Given the description of an element on the screen output the (x, y) to click on. 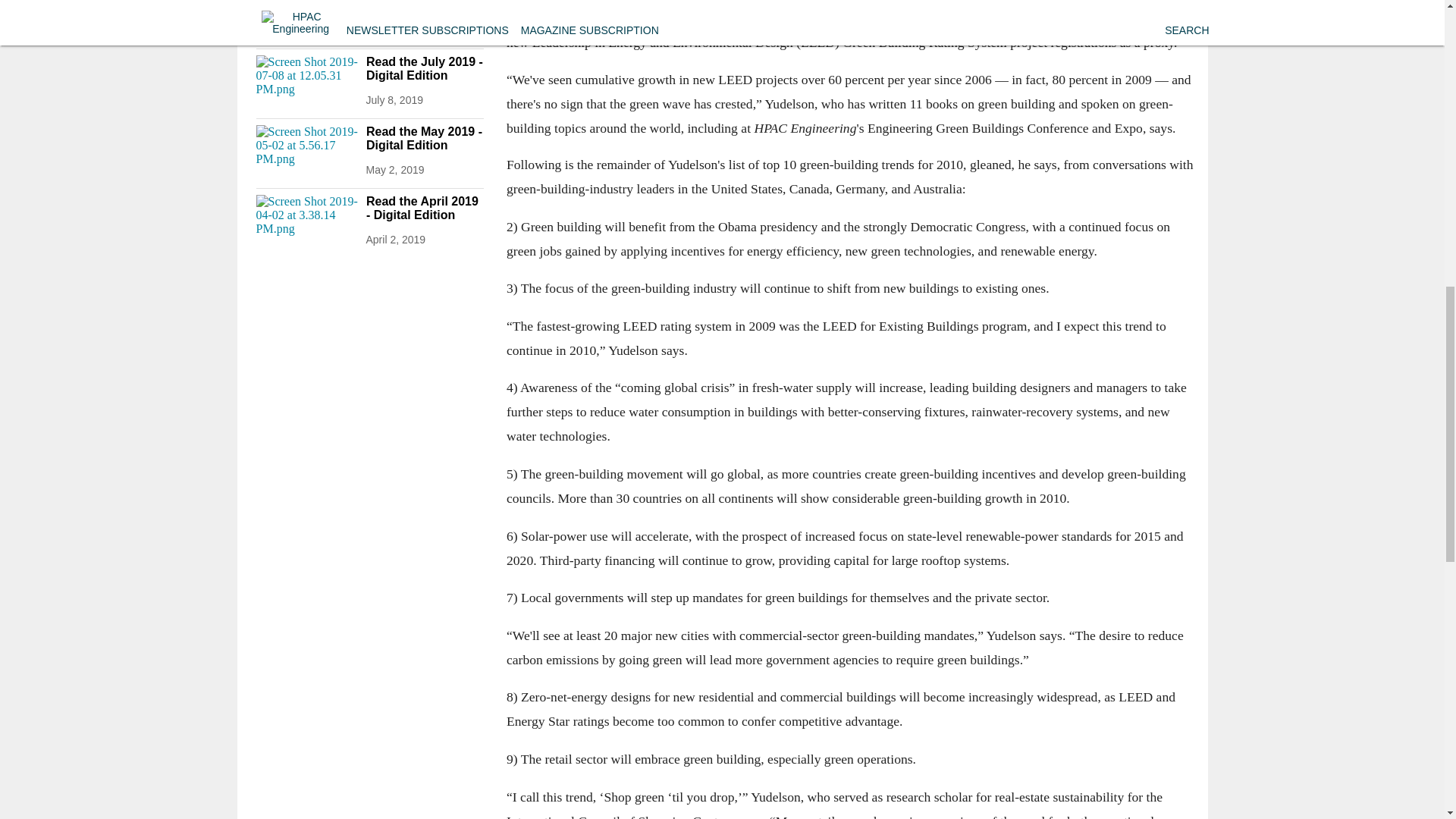
Read the May 2019 - Digital Edition (424, 138)
Read the July 2019 - Digital Edition (424, 68)
Screen Shot 2019-08-01 at 10.50.46 AM.png (307, 17)
Read the April 2019 - Digital Edition (424, 207)
Screen Shot 2019-04-02 at 3.38.14 PM.png (307, 222)
Screen Shot 2019-07-08 at 12.05.31 PM.png (307, 83)
Screen Shot 2019-05-02 at 5.56.17 PM.png (307, 153)
Read the August 2019 - Digital Edition (424, 9)
